Given the description of an element on the screen output the (x, y) to click on. 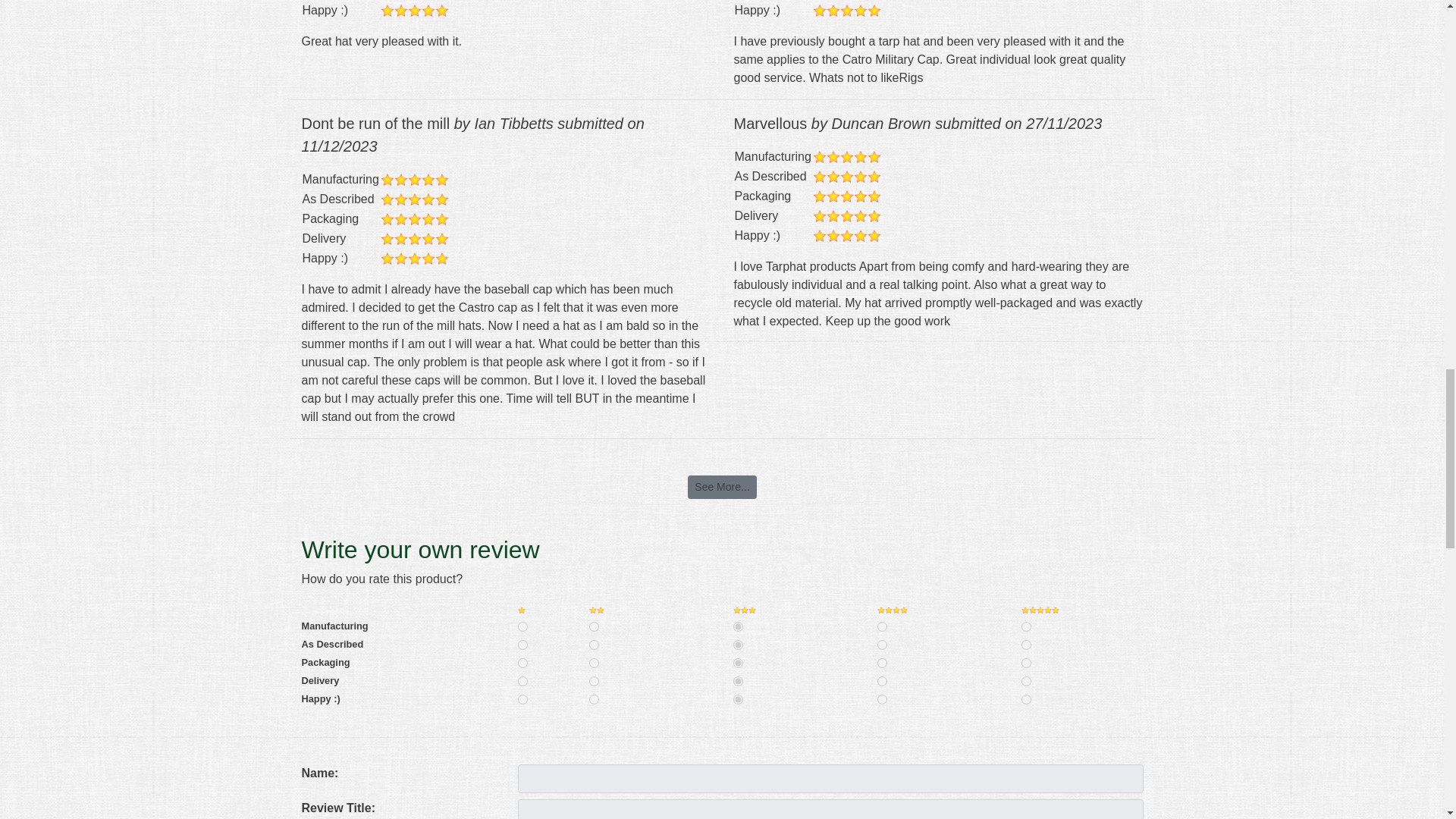
RadioButton4 (881, 626)
RadioButton10 (1026, 644)
RadioButton12 (593, 663)
RadioButton9 (881, 644)
RadioButton5 (1026, 626)
RadioButton1 (521, 626)
RadioButton3 (737, 626)
RadioButton7 (593, 644)
RadioButton14 (881, 663)
RadioButton13 (737, 663)
RadioButton2 (593, 626)
RadioButton8 (737, 644)
RadioButton15 (1026, 663)
RadioButton11 (521, 663)
RadioButton16 (521, 681)
